Given the description of an element on the screen output the (x, y) to click on. 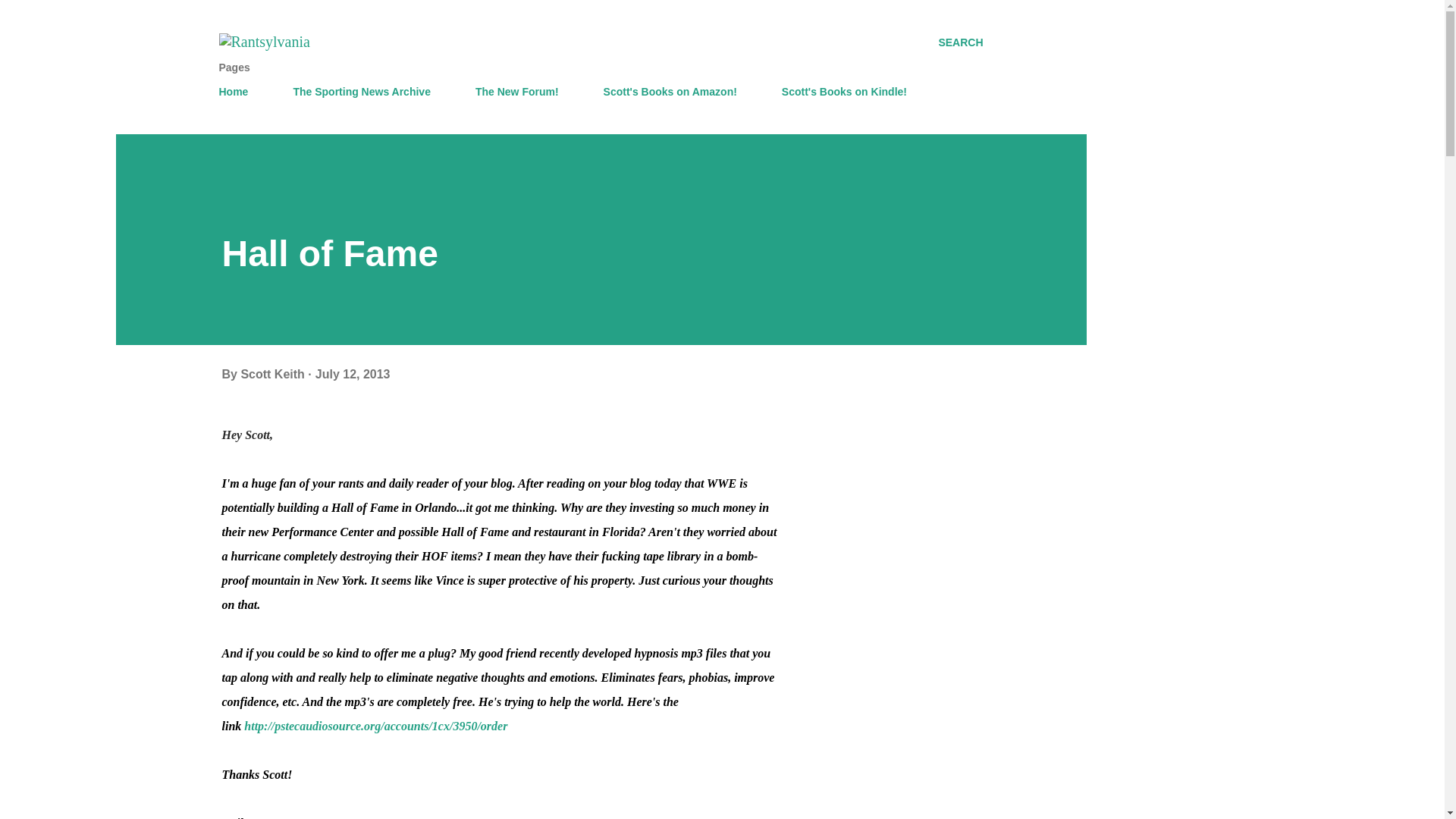
Scott's Books on Amazon! (669, 91)
The Sporting News Archive (361, 91)
Scott Keith (273, 373)
Scott's Books on Kindle! (844, 91)
The New Forum! (516, 91)
Home (237, 91)
SEARCH (959, 42)
July 12, 2013 (352, 373)
author profile (273, 373)
permanent link (352, 373)
